Given the description of an element on the screen output the (x, y) to click on. 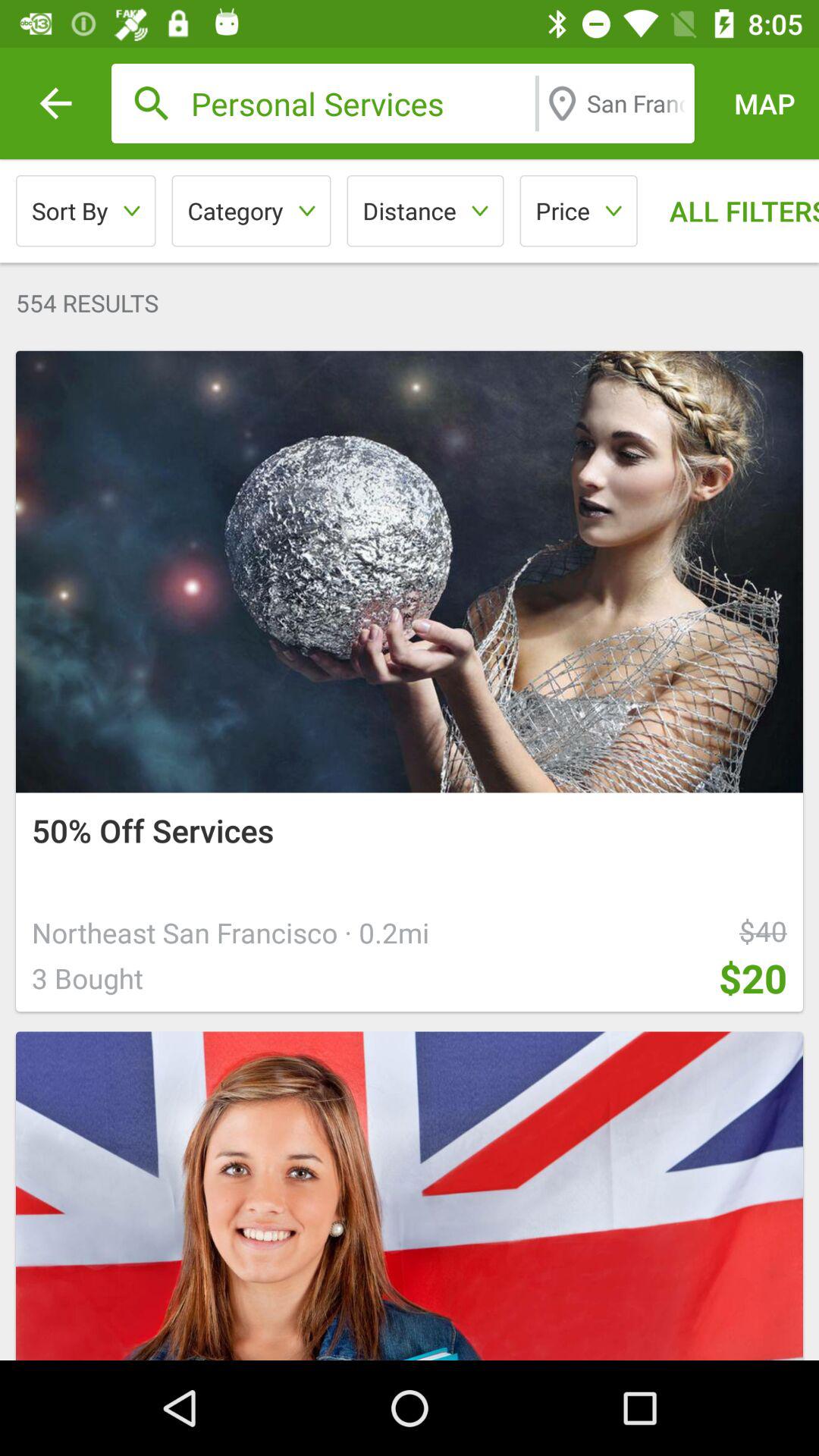
flip to the price item (578, 210)
